Given the description of an element on the screen output the (x, y) to click on. 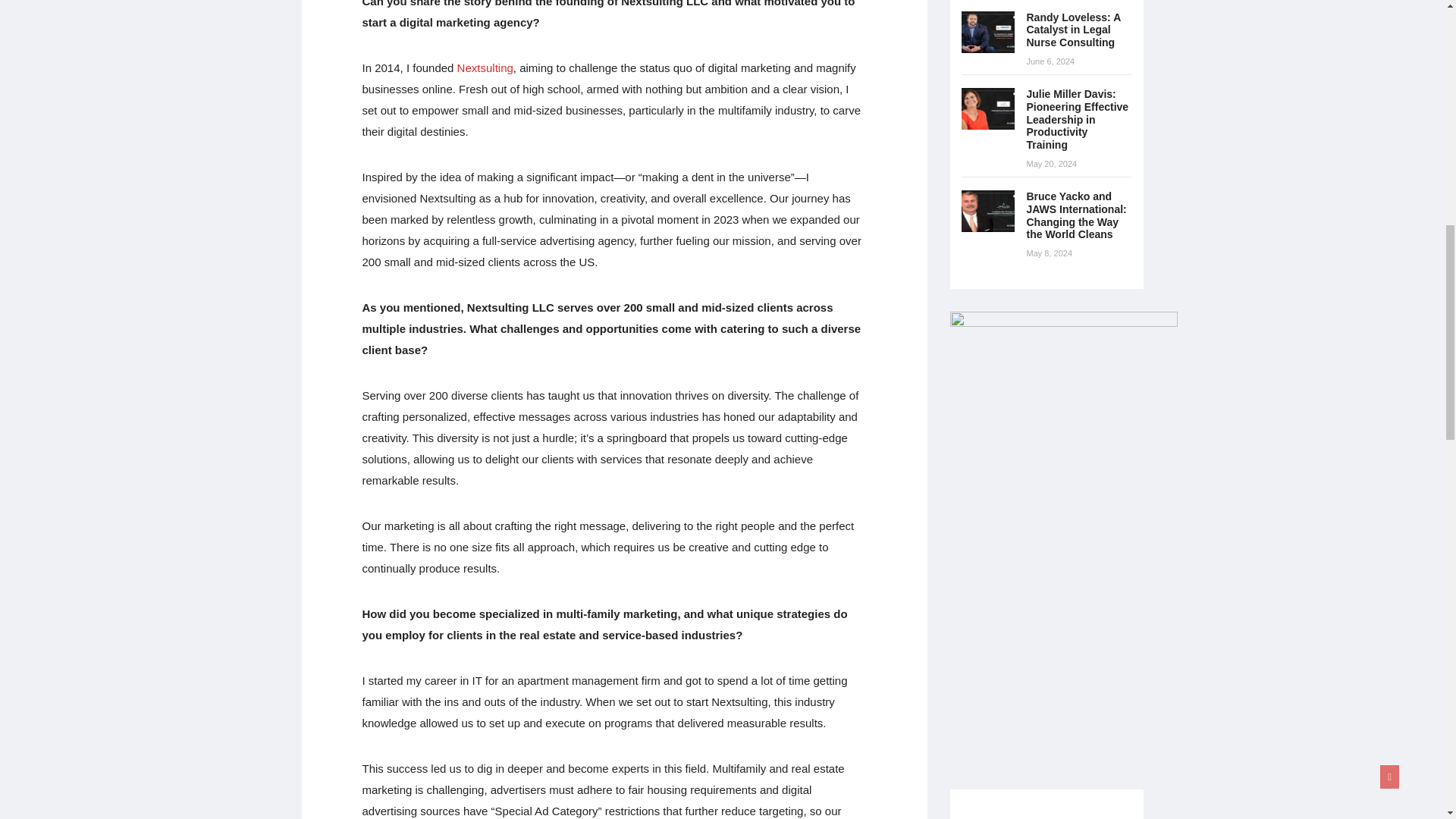
Randy Loveless: A Catalyst in Legal Nurse Consulting (1073, 30)
Nextsulting (485, 67)
Randy Loveless: A Catalyst in Legal Nurse Consulting (987, 32)
